Given the description of an element on the screen output the (x, y) to click on. 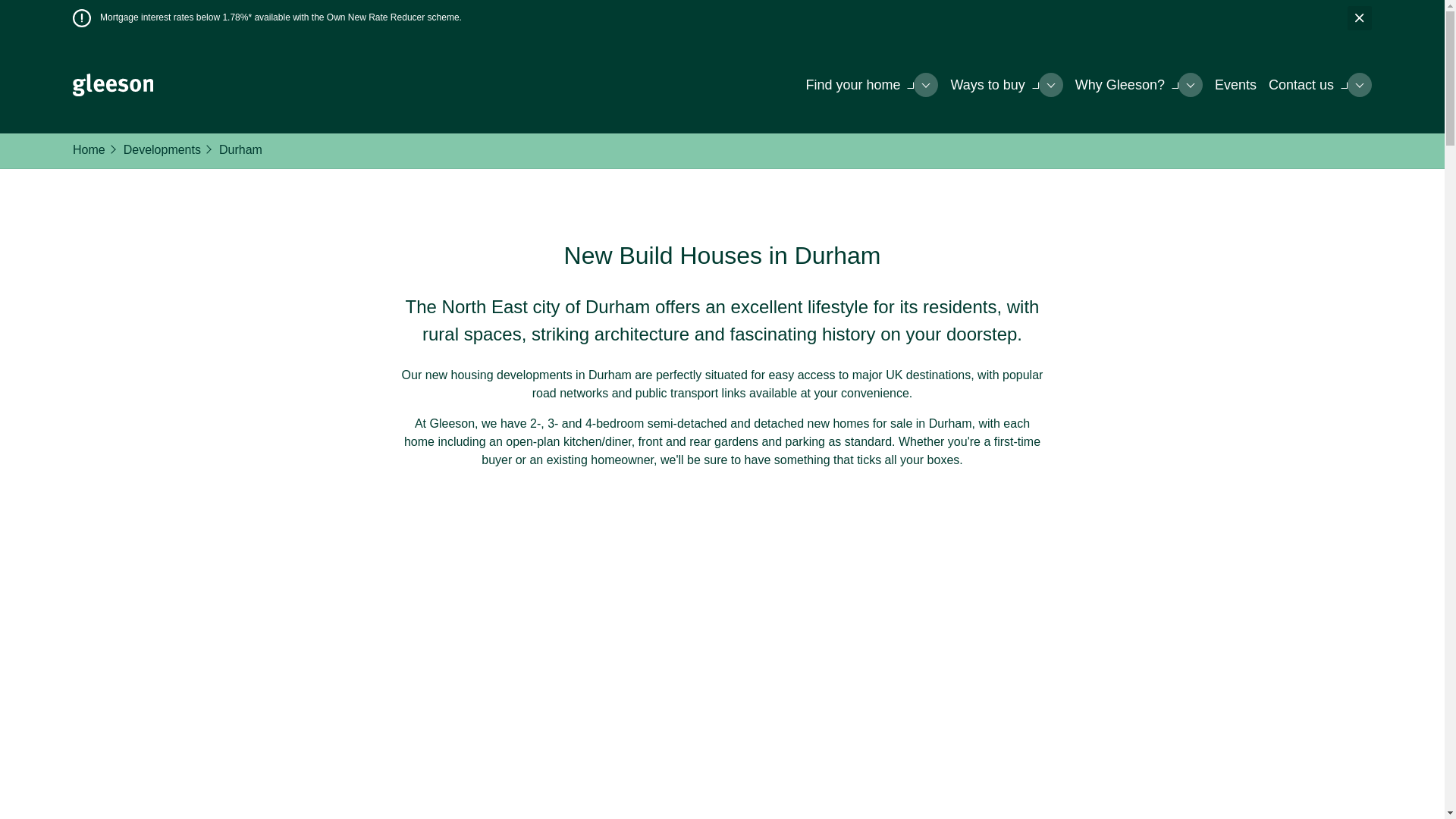
Ways to buy (994, 84)
Link to: Homepage (112, 84)
Link to: Find your home (859, 84)
Find your home (859, 84)
close (1359, 17)
